Given the description of an element on the screen output the (x, y) to click on. 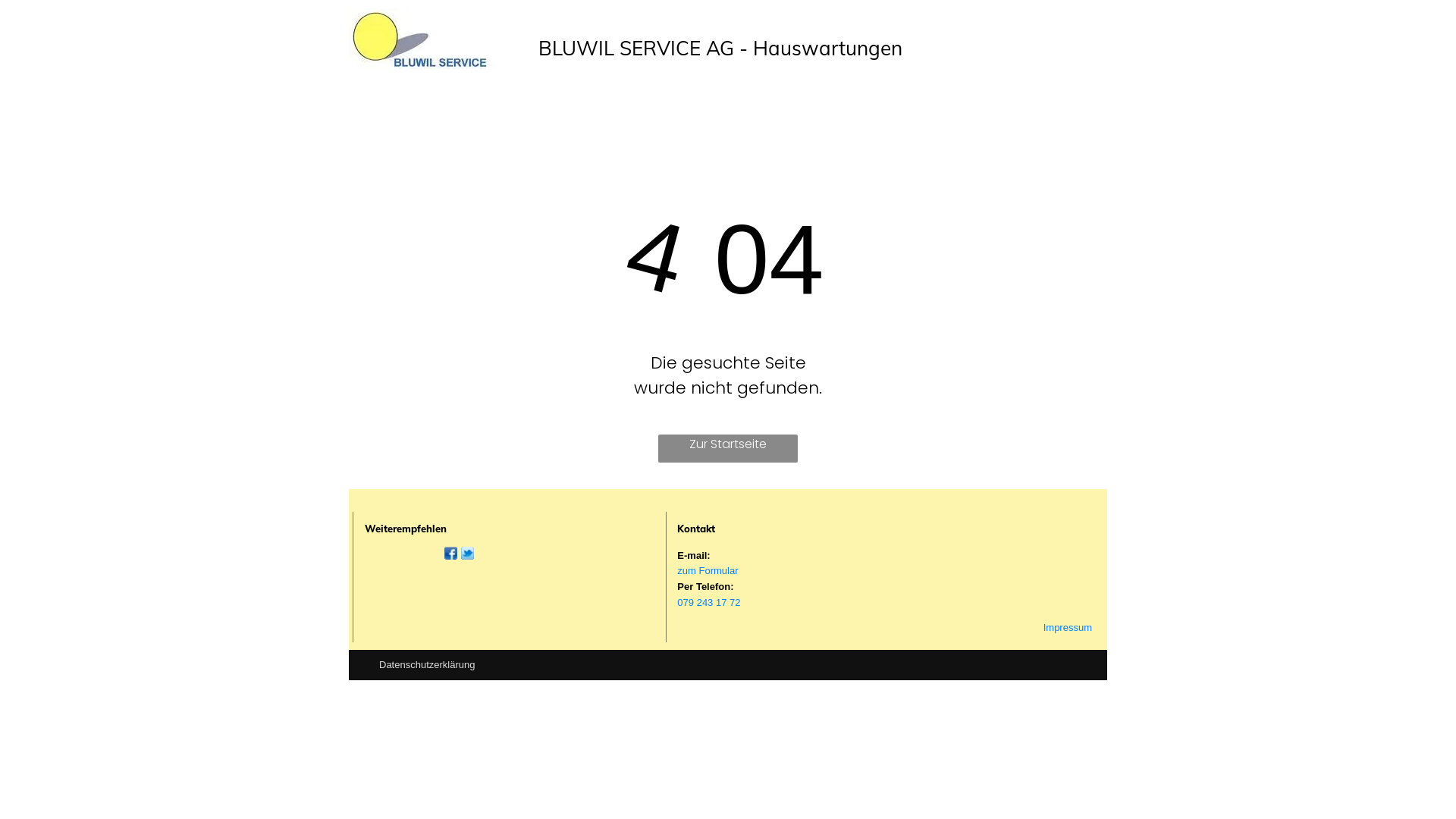
zum Formular Element type: text (707, 570)
Impressum Element type: text (1067, 627)
Zur Startseite Element type: text (727, 448)
079 243 17 72 Element type: text (708, 602)
BLUWIL SERVICE AG - Hauswartungen Element type: text (720, 47)
